Given the description of an element on the screen output the (x, y) to click on. 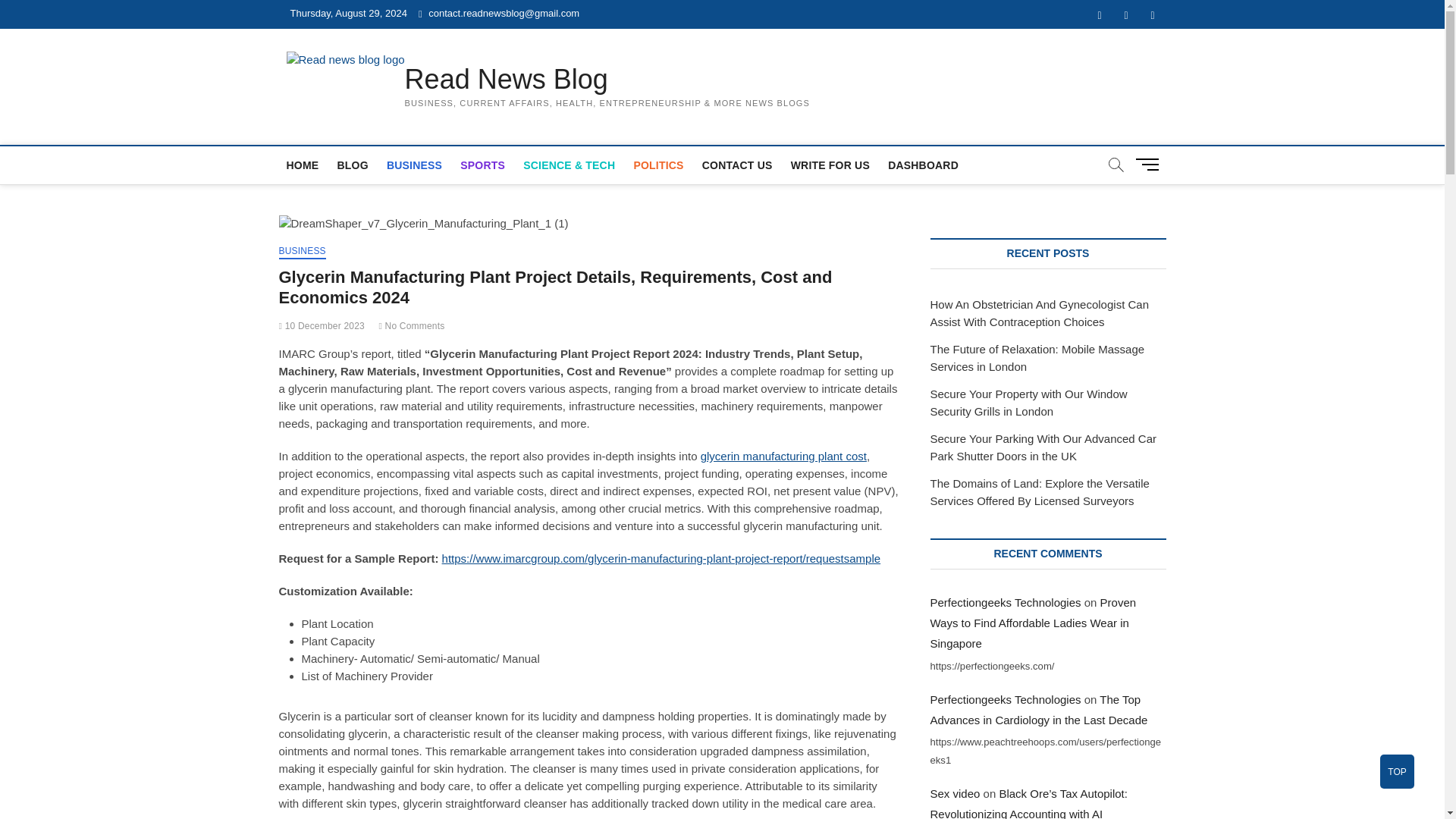
Twitter (1126, 15)
WRITE FOR US (830, 165)
CONTACT US (737, 165)
Facebook (1099, 15)
Mail Us (499, 12)
BUSINESS (413, 165)
SPORTS (482, 165)
HOME (302, 165)
Menu Button (1150, 164)
Instagram (1152, 15)
